Given the description of an element on the screen output the (x, y) to click on. 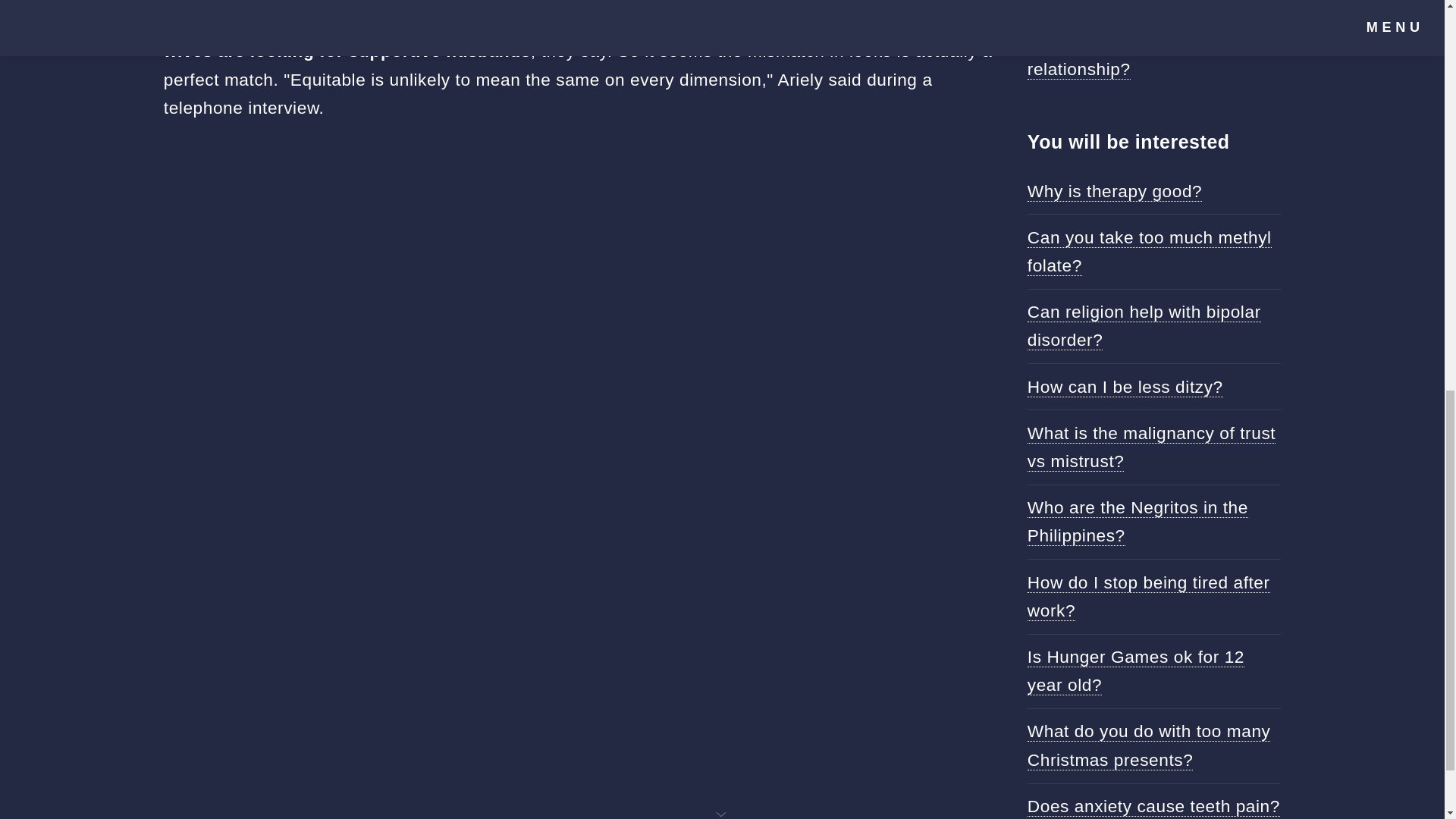
What is the malignancy of trust vs mistrust? (1151, 447)
Can religion help with bipolar disorder? (1143, 326)
Is Hunger Games ok for 12 year old? (1135, 671)
How can I be less ditzy? (1125, 386)
Does anxiety cause teeth pain? (1153, 806)
What do you do with too many Christmas presents? (1149, 745)
How do I find my leadership strengths? (1138, 2)
Can you take too much methyl folate? (1149, 251)
How do I stop being tired after work? (1148, 596)
Is it healthy to be bored in a relationship? (1138, 55)
Who are the Negritos in the Philippines? (1137, 521)
Why is therapy good? (1114, 190)
